Given the description of an element on the screen output the (x, y) to click on. 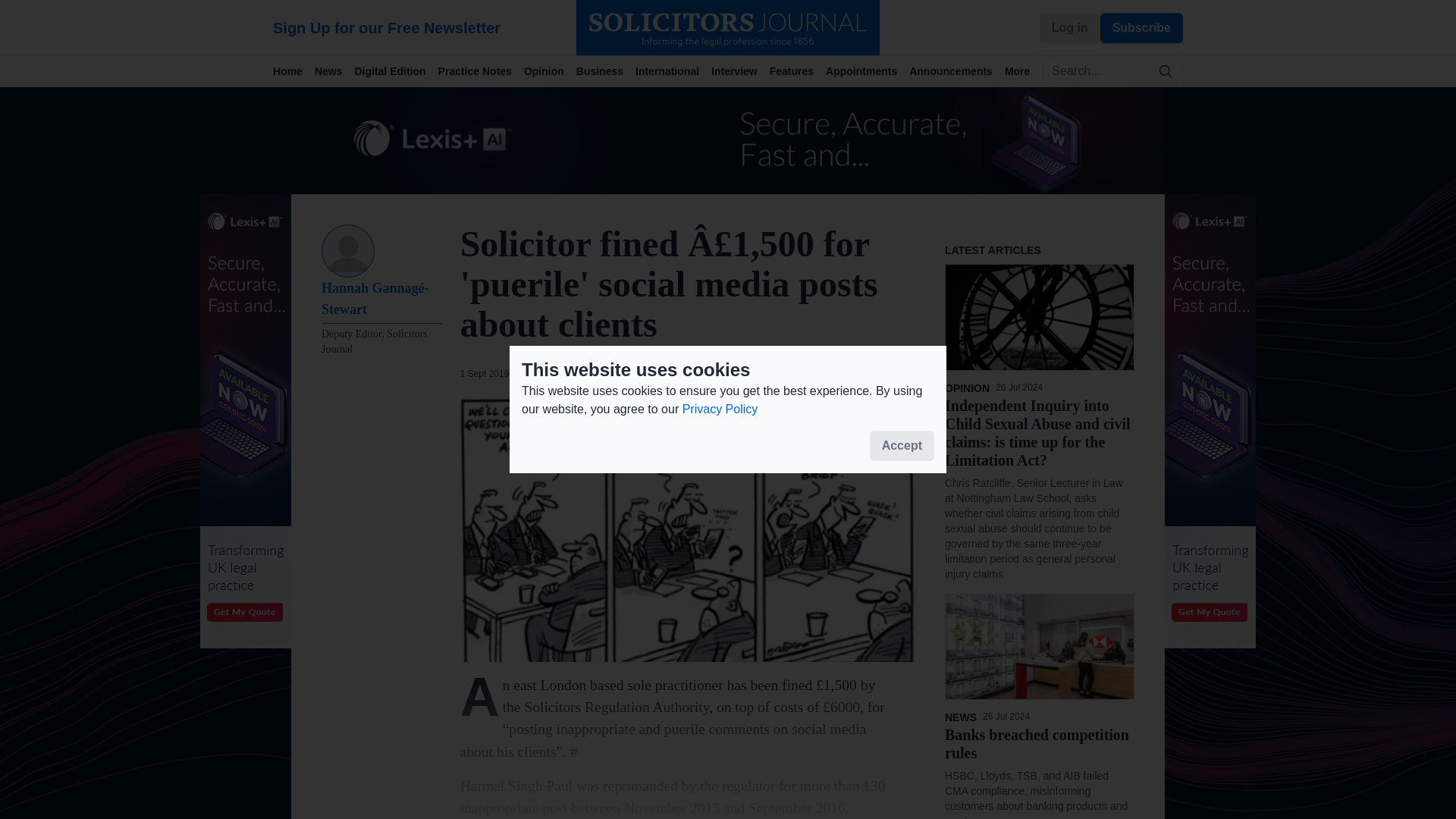
Log in (1069, 27)
Features (797, 71)
International (672, 71)
Announcements (956, 71)
Opinion (550, 71)
More (1023, 71)
Interview (740, 71)
Practice Notes (481, 71)
Privacy Policy (720, 408)
Business (605, 71)
Digital Edition (395, 71)
Sign Up for our Free Newsletter (424, 26)
Subscribe (1141, 27)
NEWS (537, 373)
Accept (901, 445)
